Given the description of an element on the screen output the (x, y) to click on. 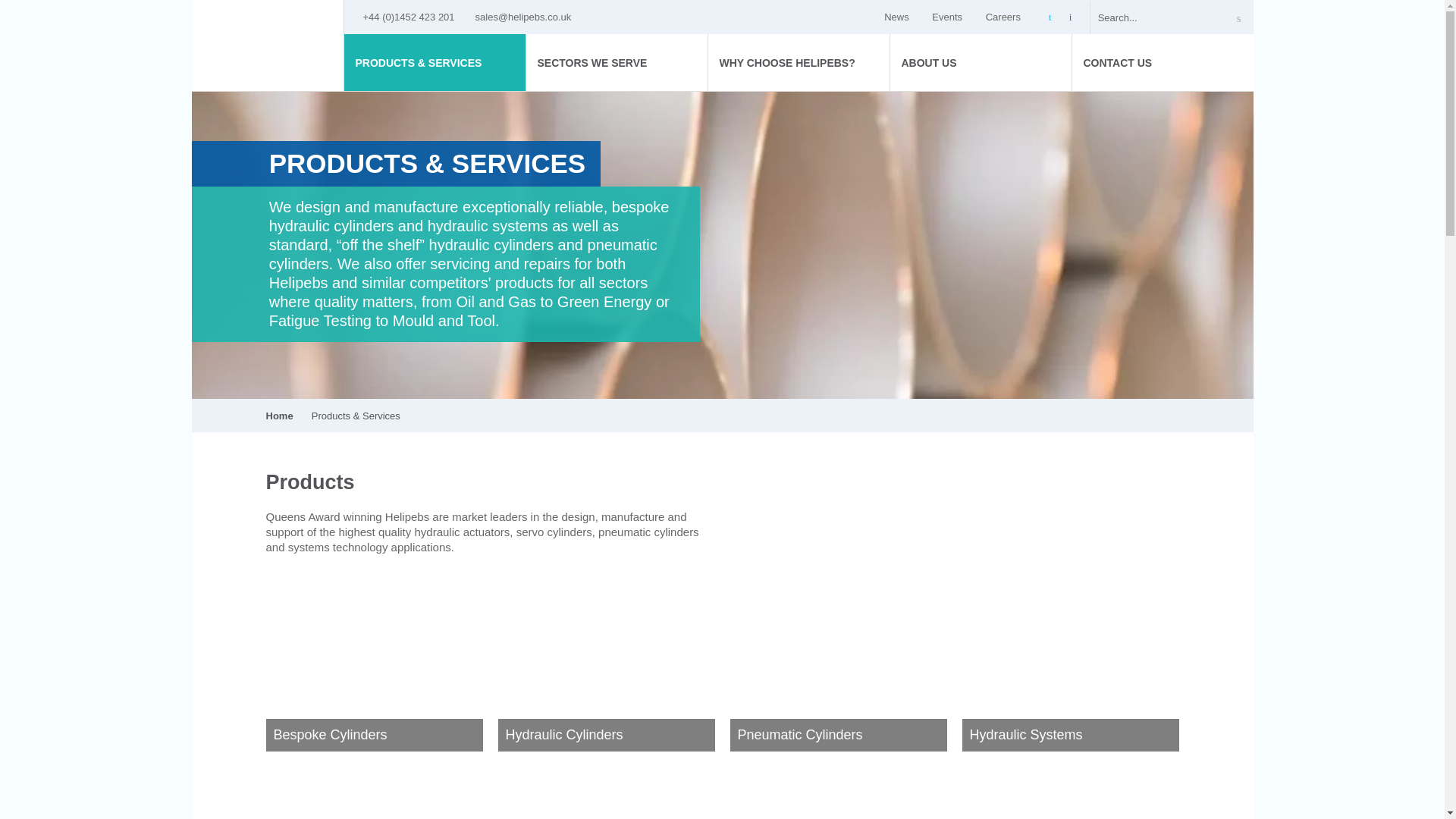
SECTORS WE SERVE (616, 62)
Helipebs (267, 43)
Careers (1005, 17)
Events (949, 17)
WHY CHOOSE HELIPEBS? (798, 62)
News (898, 17)
